Given the description of an element on the screen output the (x, y) to click on. 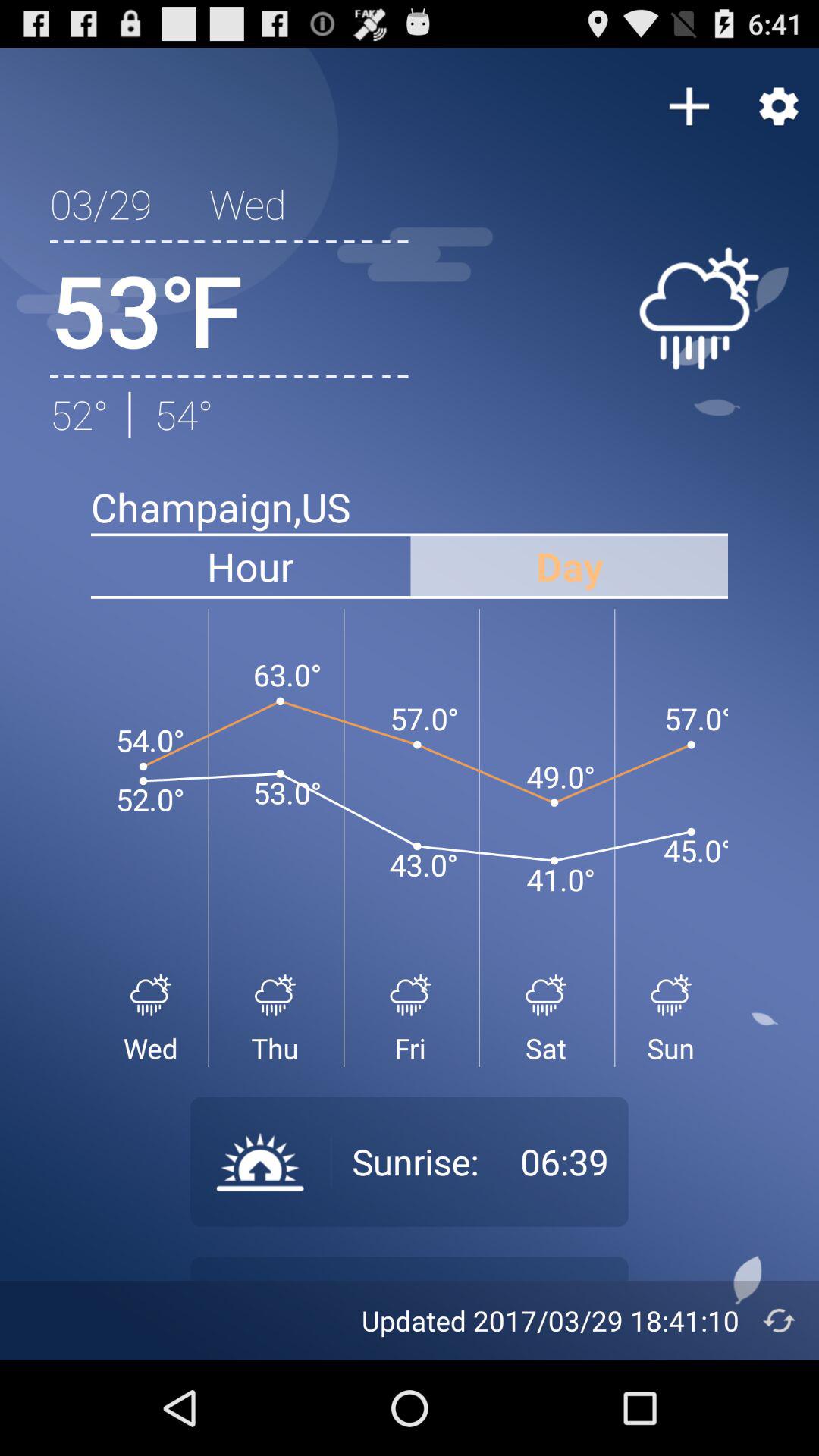
click the icon to the right of updated 2017 03 (779, 1320)
